Given the description of an element on the screen output the (x, y) to click on. 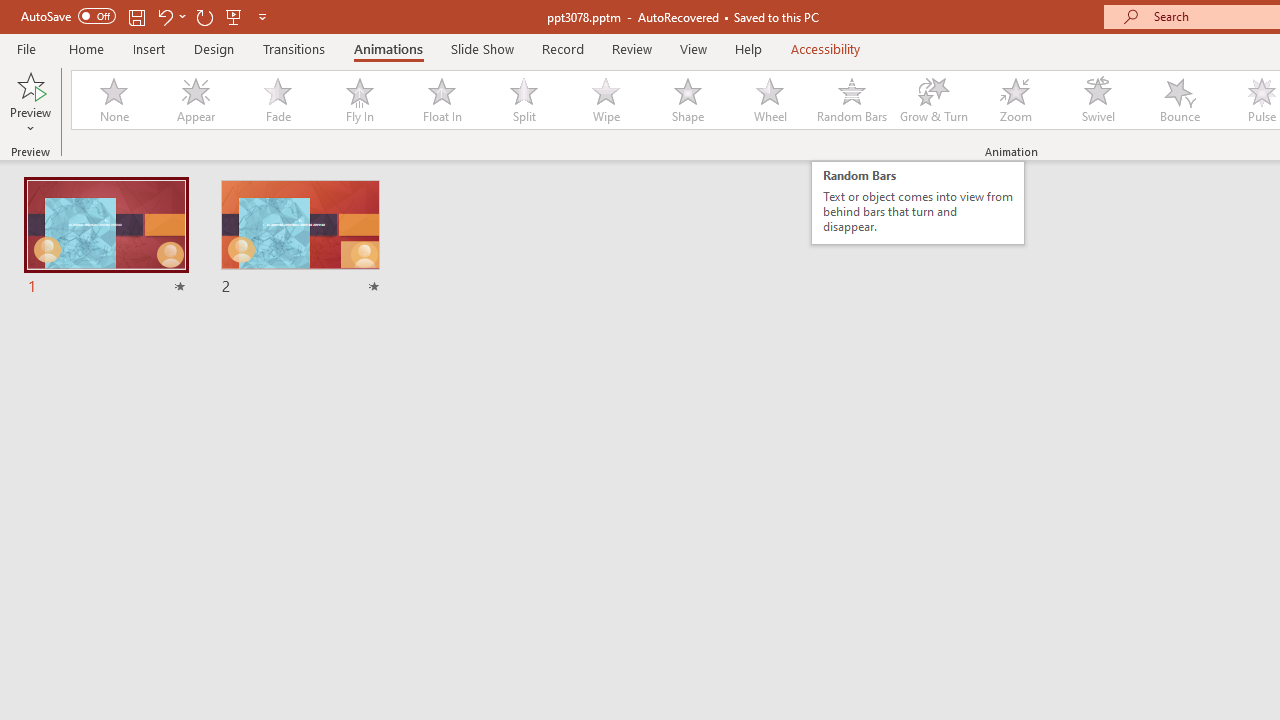
Fade (277, 100)
None (113, 100)
Appear (195, 100)
